Given the description of an element on the screen output the (x, y) to click on. 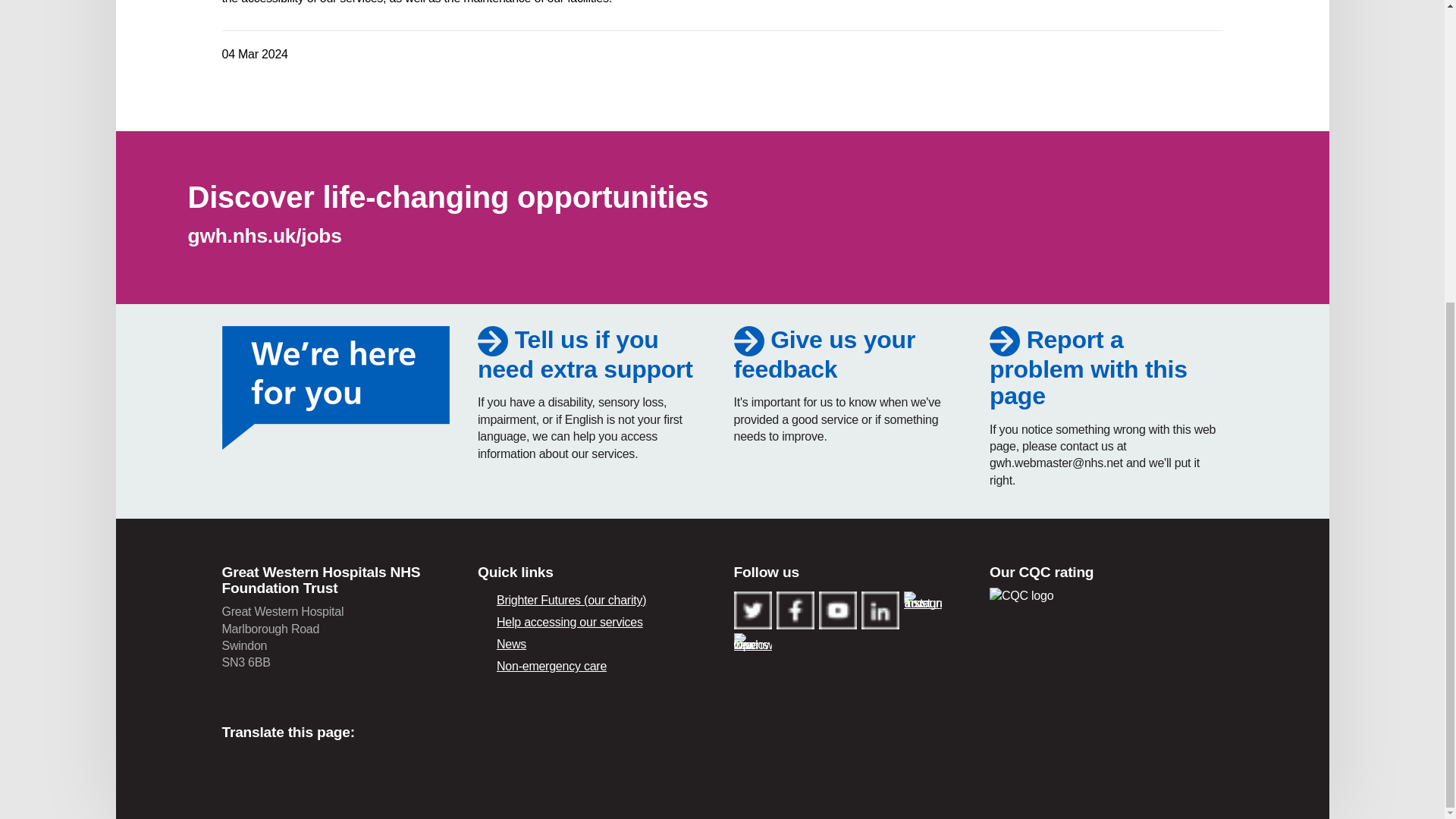
News (594, 644)
Discover Great Opportunities (448, 196)
 Report a problem with this page (1089, 367)
Give us your feedback (824, 354)
Help accessing our services (585, 354)
Feedback (824, 354)
Discover life-changing opportunities (448, 196)
Tell us if you need extra support (585, 354)
Discover Great Opportunities (264, 235)
Help accessing our services (594, 622)
Non-emergency care (594, 666)
